Given the description of an element on the screen output the (x, y) to click on. 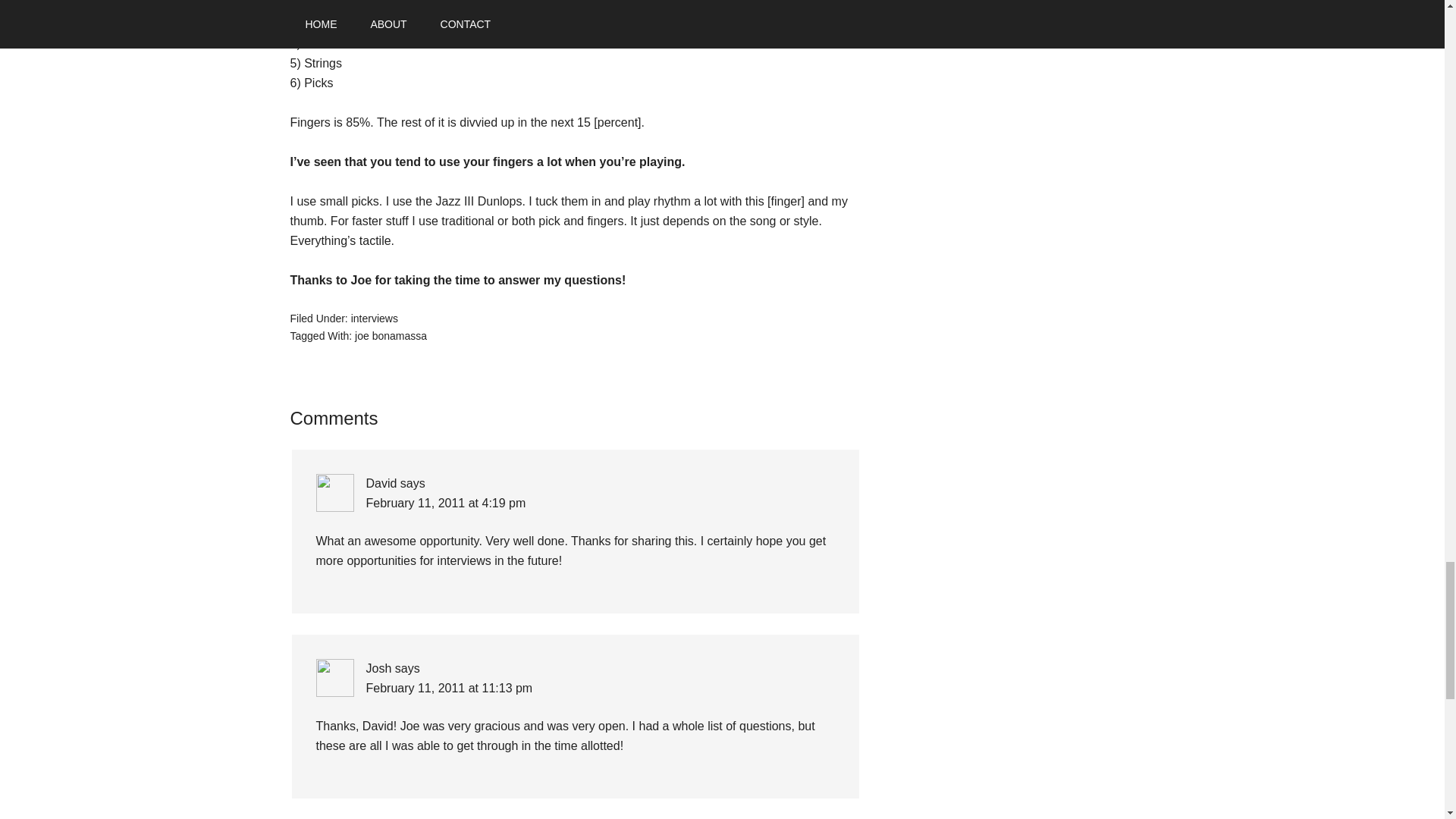
interviews (373, 318)
joe bonamassa (390, 335)
February 11, 2011 at 4:19 pm (445, 502)
February 11, 2011 at 11:13 pm (448, 687)
